Given the description of an element on the screen output the (x, y) to click on. 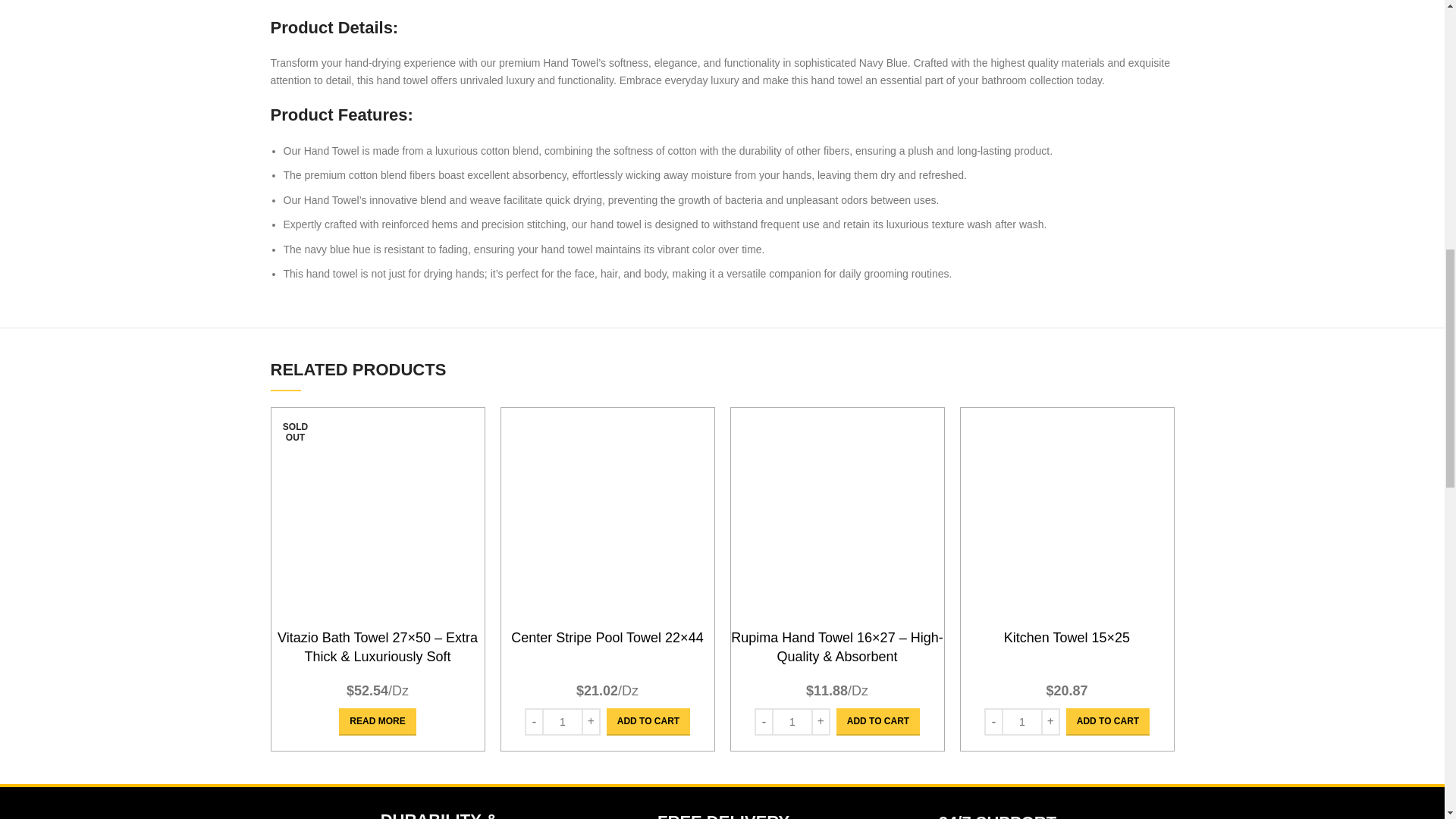
1 (791, 721)
1 (1022, 721)
1 (561, 721)
